Given the description of an element on the screen output the (x, y) to click on. 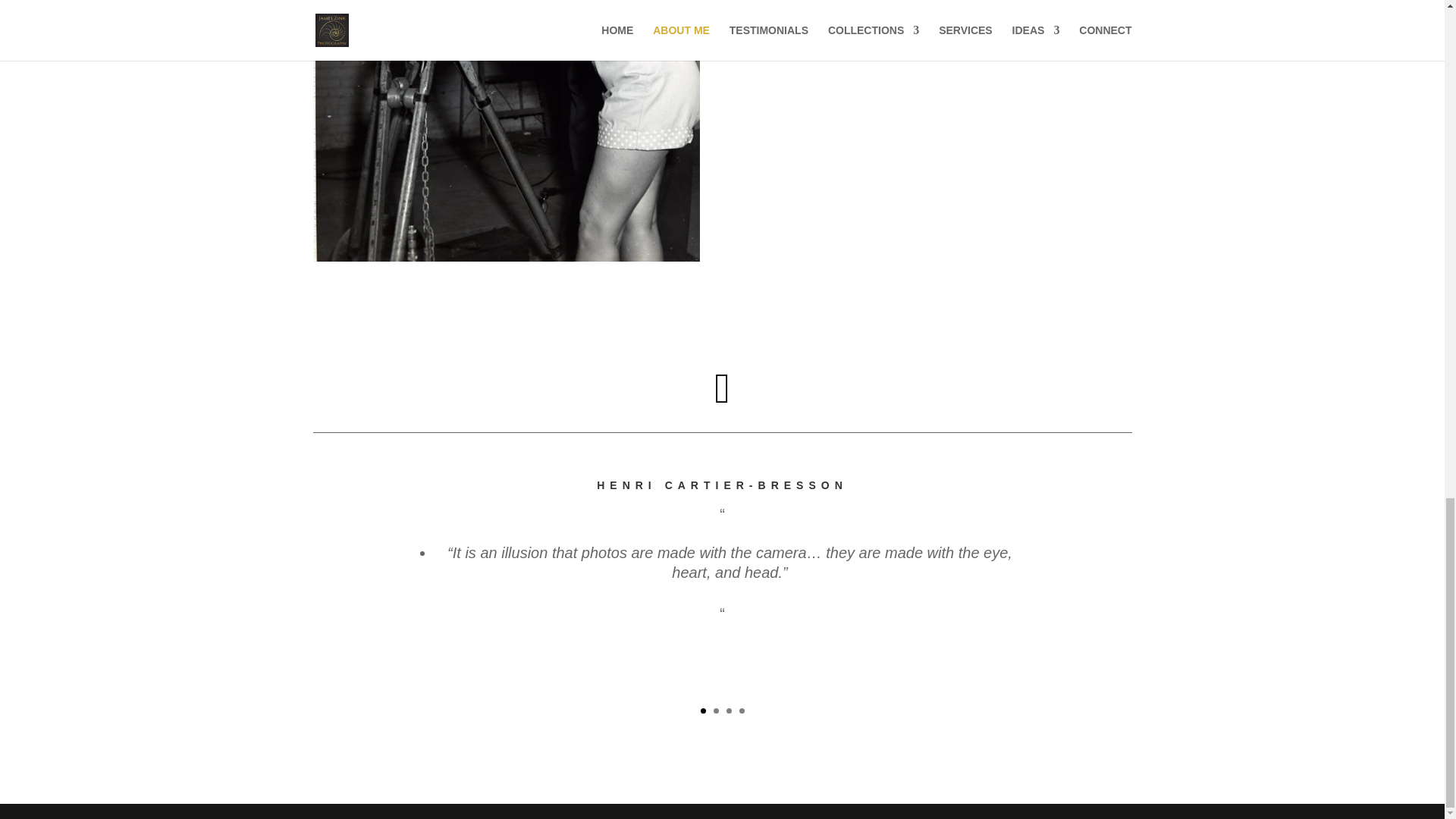
Great Grandfather, William C. Thompson (505, 257)
